Given the description of an element on the screen output the (x, y) to click on. 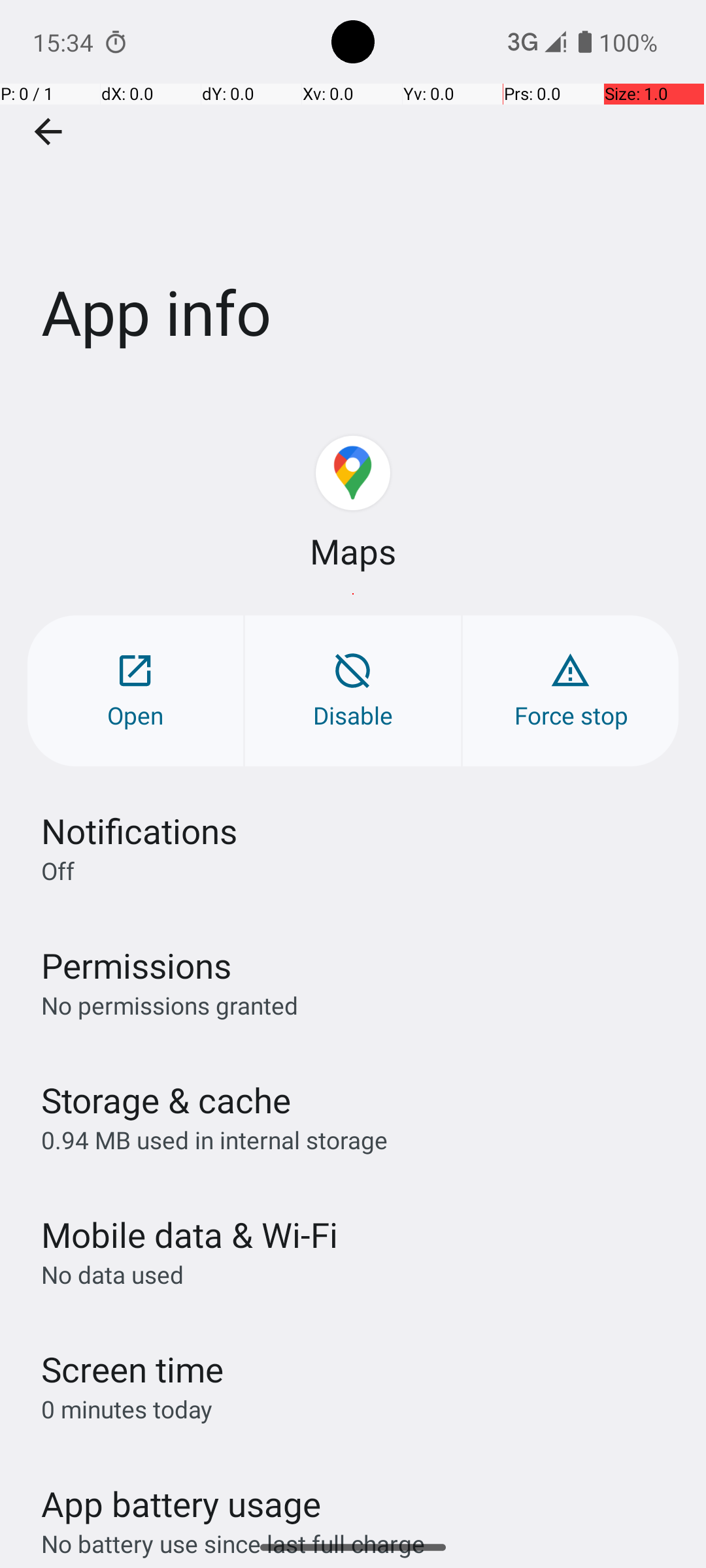
Maps Element type: android.widget.TextView (352, 550)
Disable Element type: android.widget.Button (352, 690)
No permissions granted Element type: android.widget.TextView (169, 1004)
0.94 MB used in internal storage Element type: android.widget.TextView (214, 1139)
No data used Element type: android.widget.TextView (112, 1273)
0 minutes today Element type: android.widget.TextView (127, 1408)
App battery usage Element type: android.widget.TextView (181, 1503)
